Given the description of an element on the screen output the (x, y) to click on. 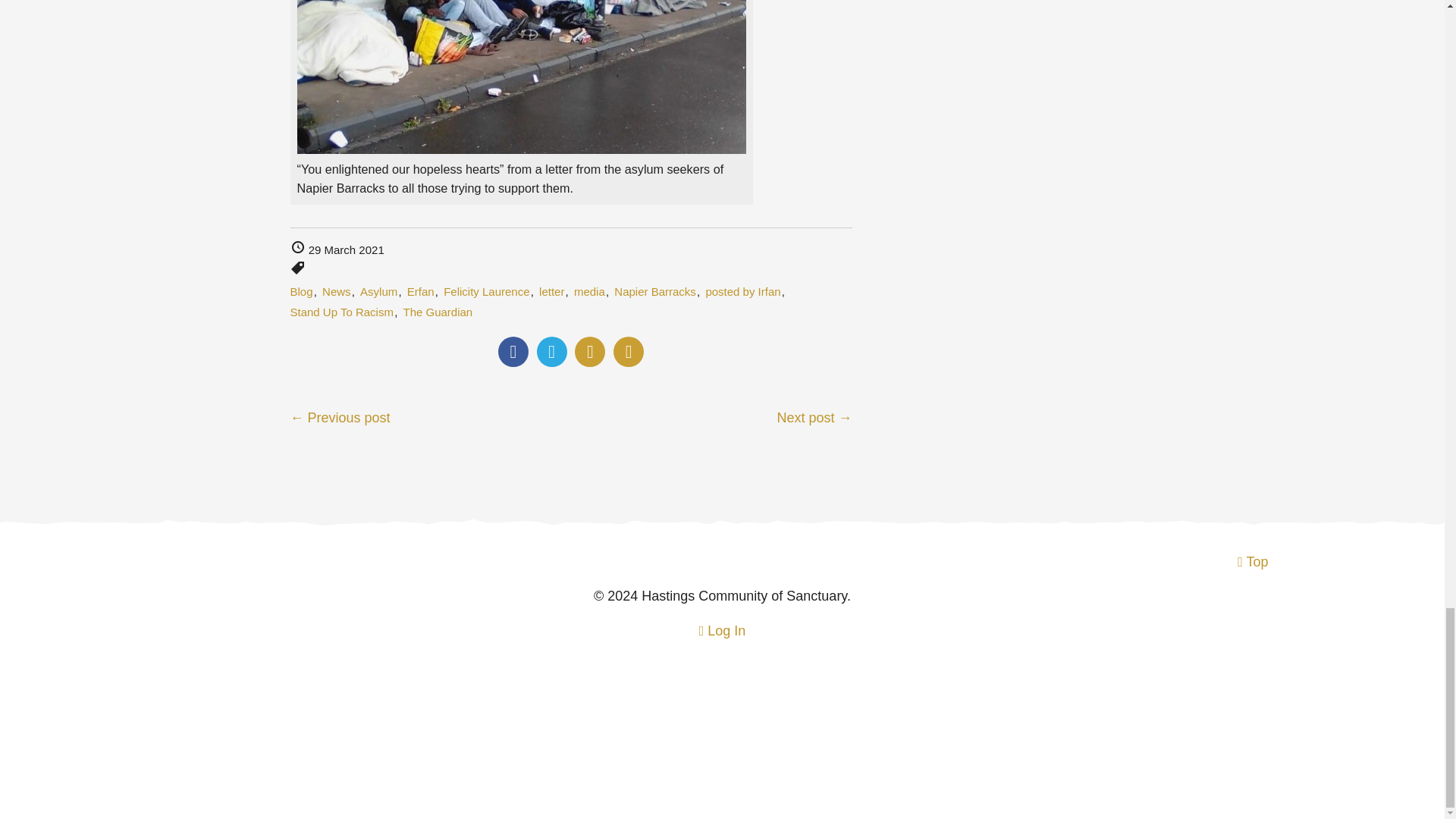
Published at 2:58pm on 29 March 2021 (336, 249)
